Given the description of an element on the screen output the (x, y) to click on. 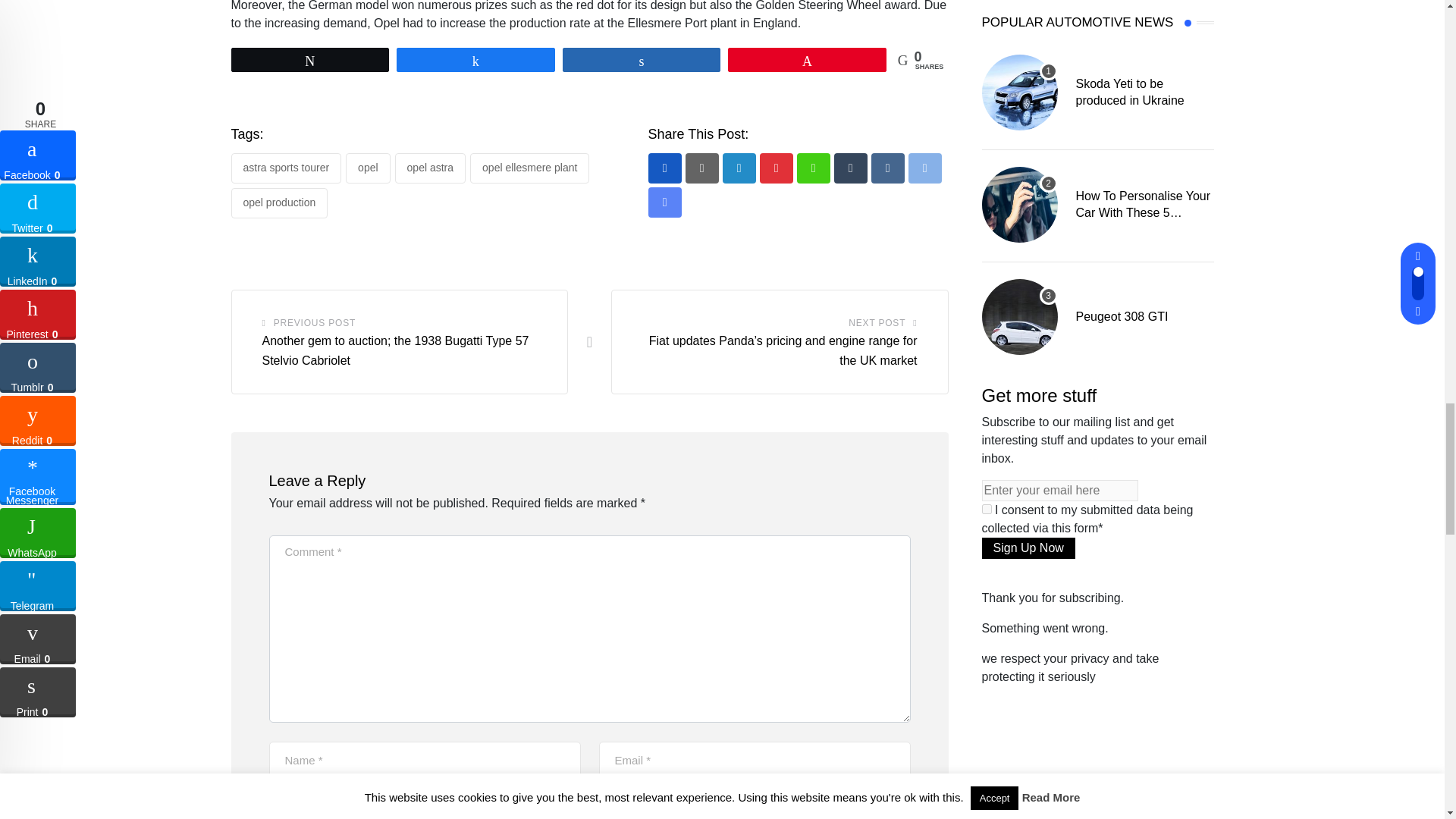
on (986, 509)
Sign Up Now (1027, 547)
yes (272, 807)
